Given the description of an element on the screen output the (x, y) to click on. 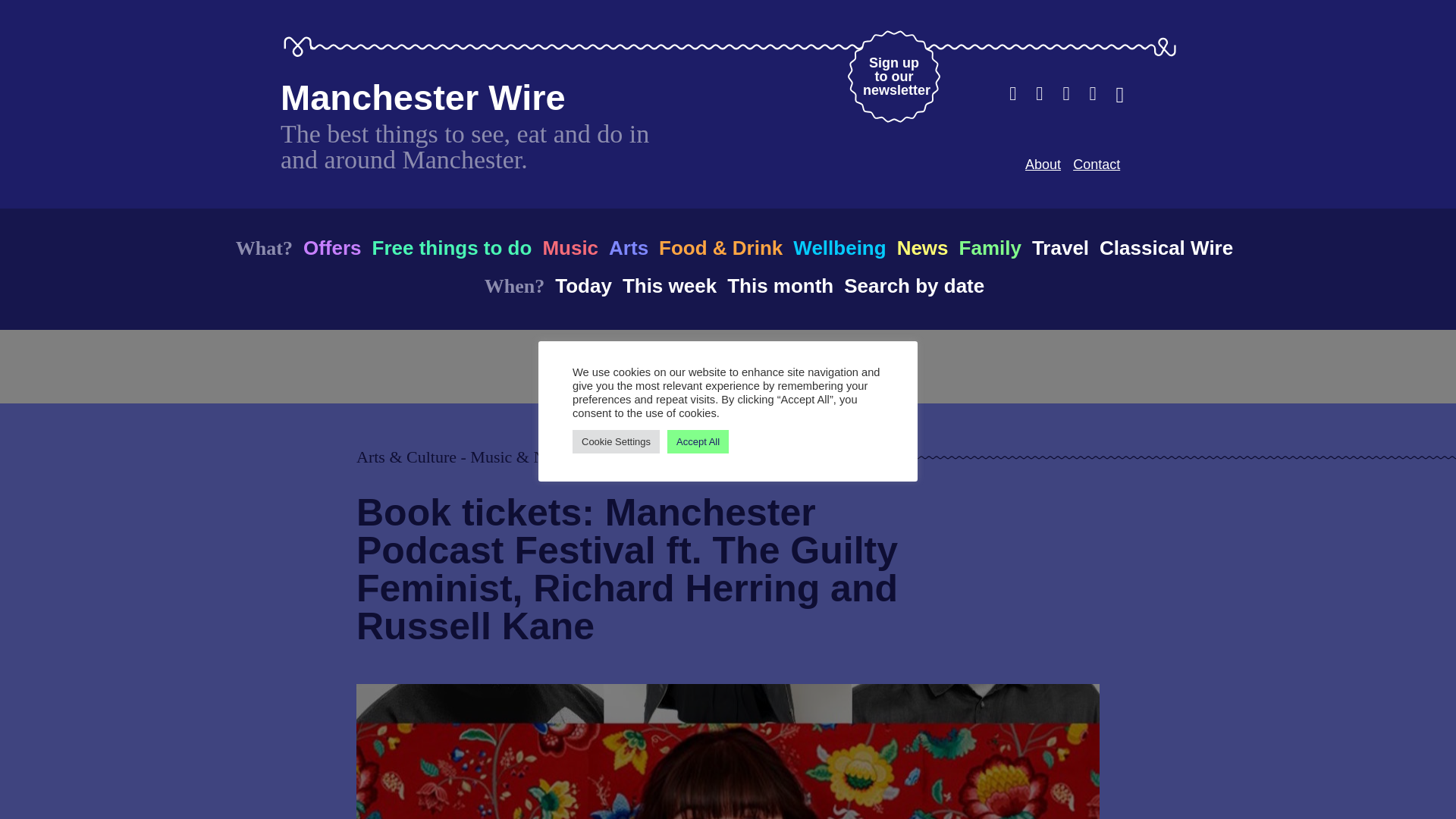
This week (669, 285)
Wellbeing (839, 248)
Offers (331, 248)
Arts (627, 248)
Music (569, 248)
Manchester Wire (423, 96)
Travel (1060, 248)
Contact (1096, 164)
News (893, 76)
Free things to do (922, 248)
Family (451, 248)
About (990, 248)
This month (1043, 164)
Classical Wire (779, 285)
